Given the description of an element on the screen output the (x, y) to click on. 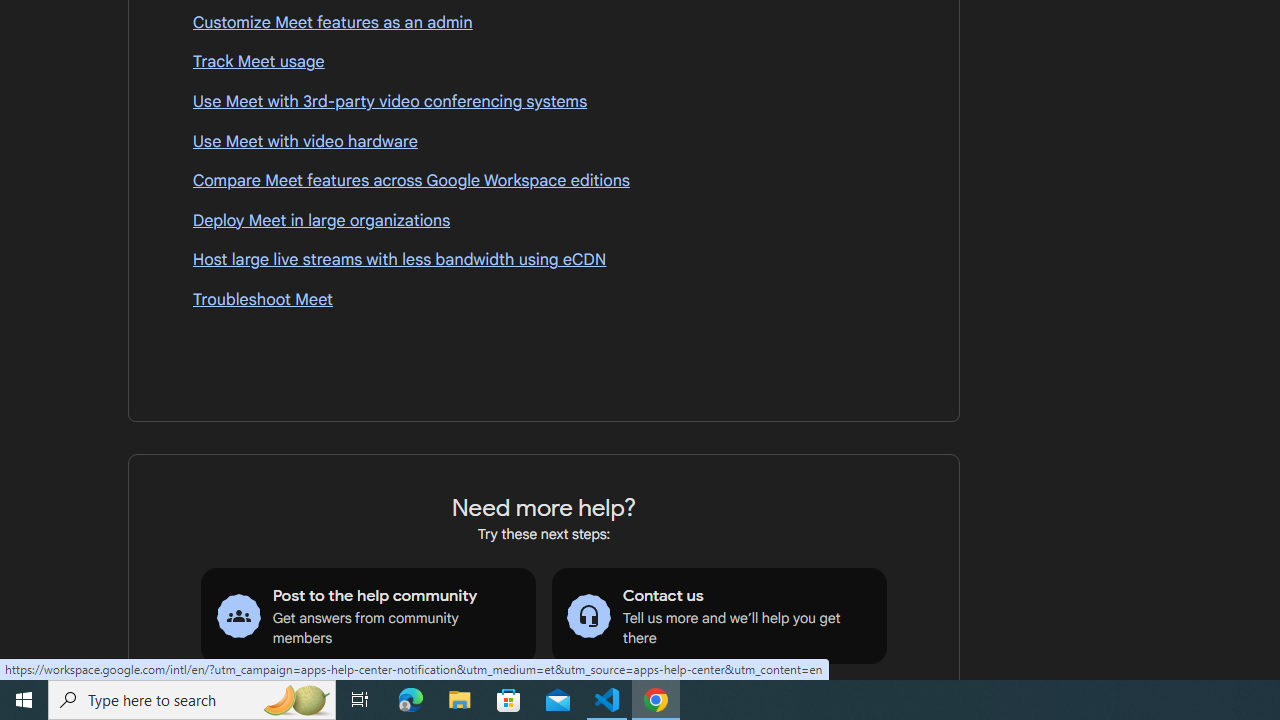
Track Meet usage (543, 62)
Compare Meet features across Google Workspace editions (543, 181)
Deploy Meet in large organizations (543, 221)
Host large live streams with less bandwidth using eCDN (543, 260)
Customize Meet features as an admin (543, 23)
Troubleshoot Meet (543, 300)
Use Meet with 3rd-party video conferencing systems (543, 101)
Use Meet with video hardware (543, 142)
